Given the description of an element on the screen output the (x, y) to click on. 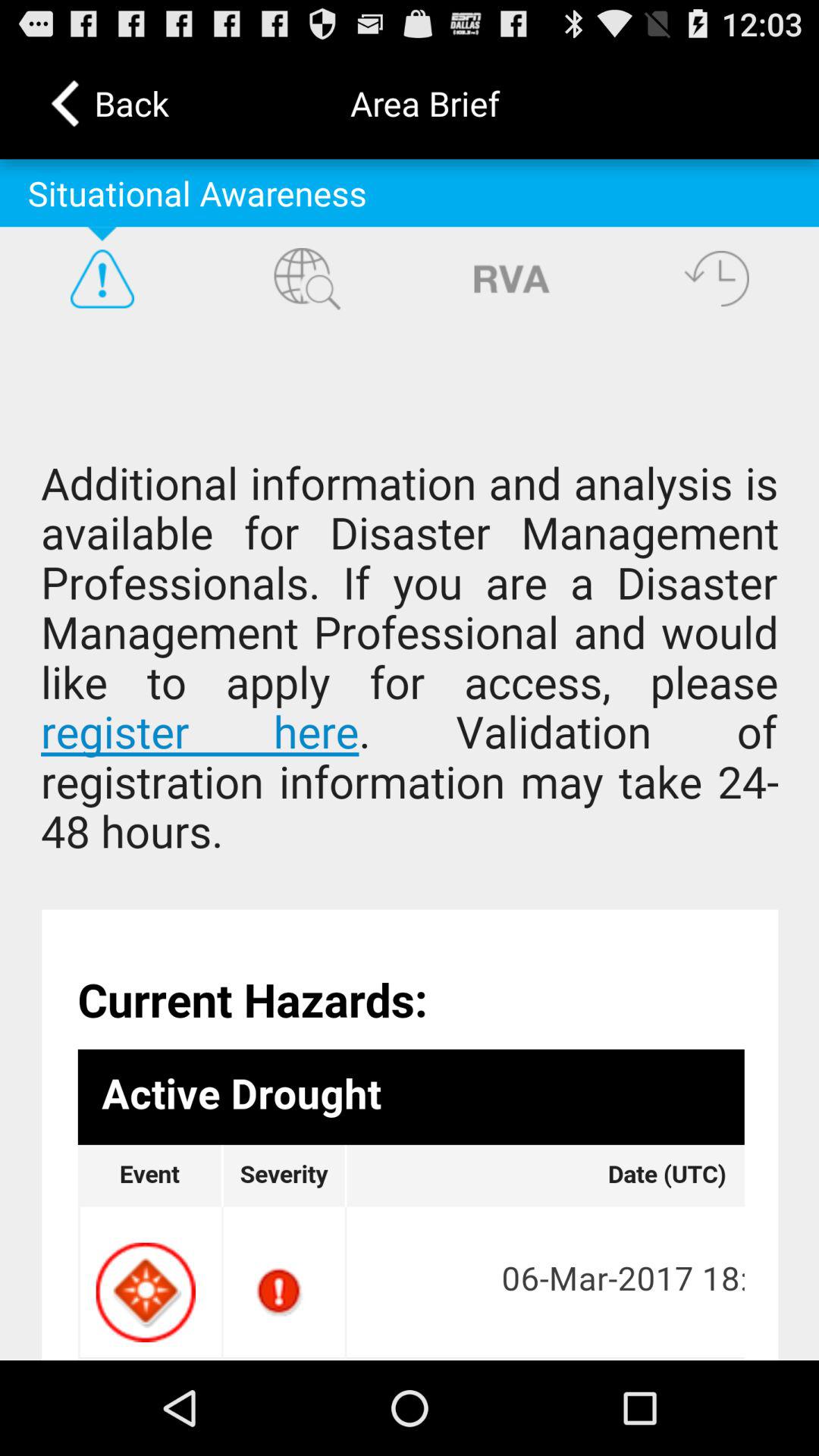
get detailed information (409, 845)
